Given the description of an element on the screen output the (x, y) to click on. 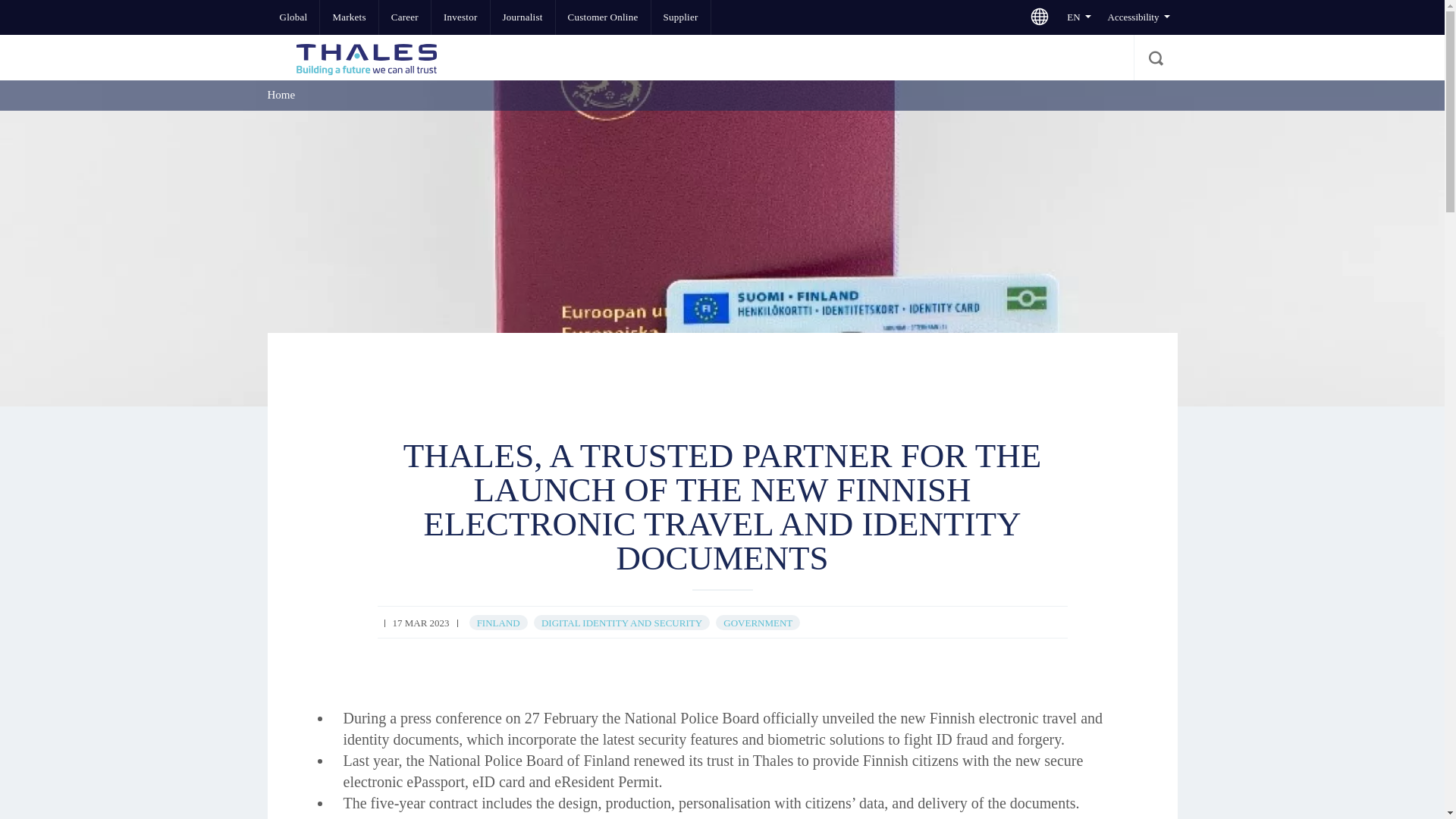
Supplier (680, 17)
Investor (459, 17)
GOVERNMENT (757, 622)
Customer Online (603, 17)
Search (1154, 57)
EN (1077, 17)
DIGITAL IDENTITY AND SECURITY (621, 622)
FINLAND (498, 622)
Career (404, 17)
Markets (348, 17)
